Given the description of an element on the screen output the (x, y) to click on. 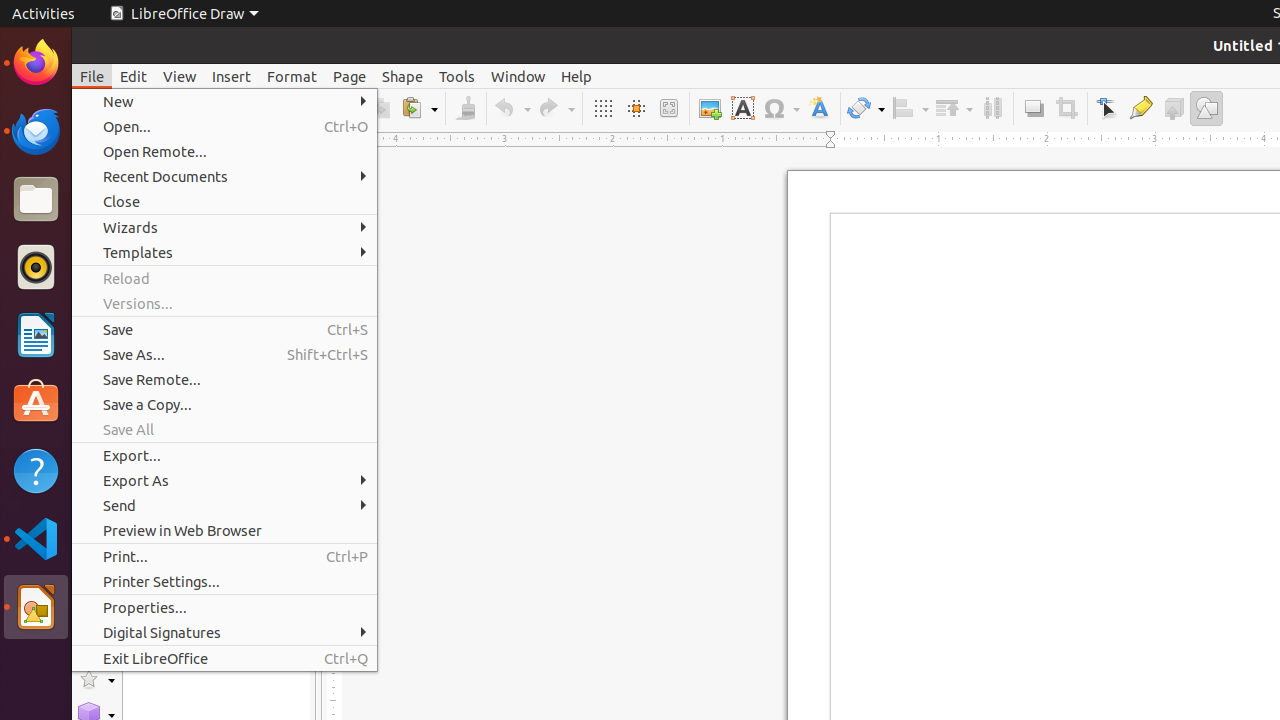
Reload Element type: menu-item (224, 278)
Grid Element type: toggle-button (602, 108)
Format Element type: menu (292, 76)
Distribution Element type: push-button (992, 108)
Close Element type: menu-item (224, 201)
